Given the description of an element on the screen output the (x, y) to click on. 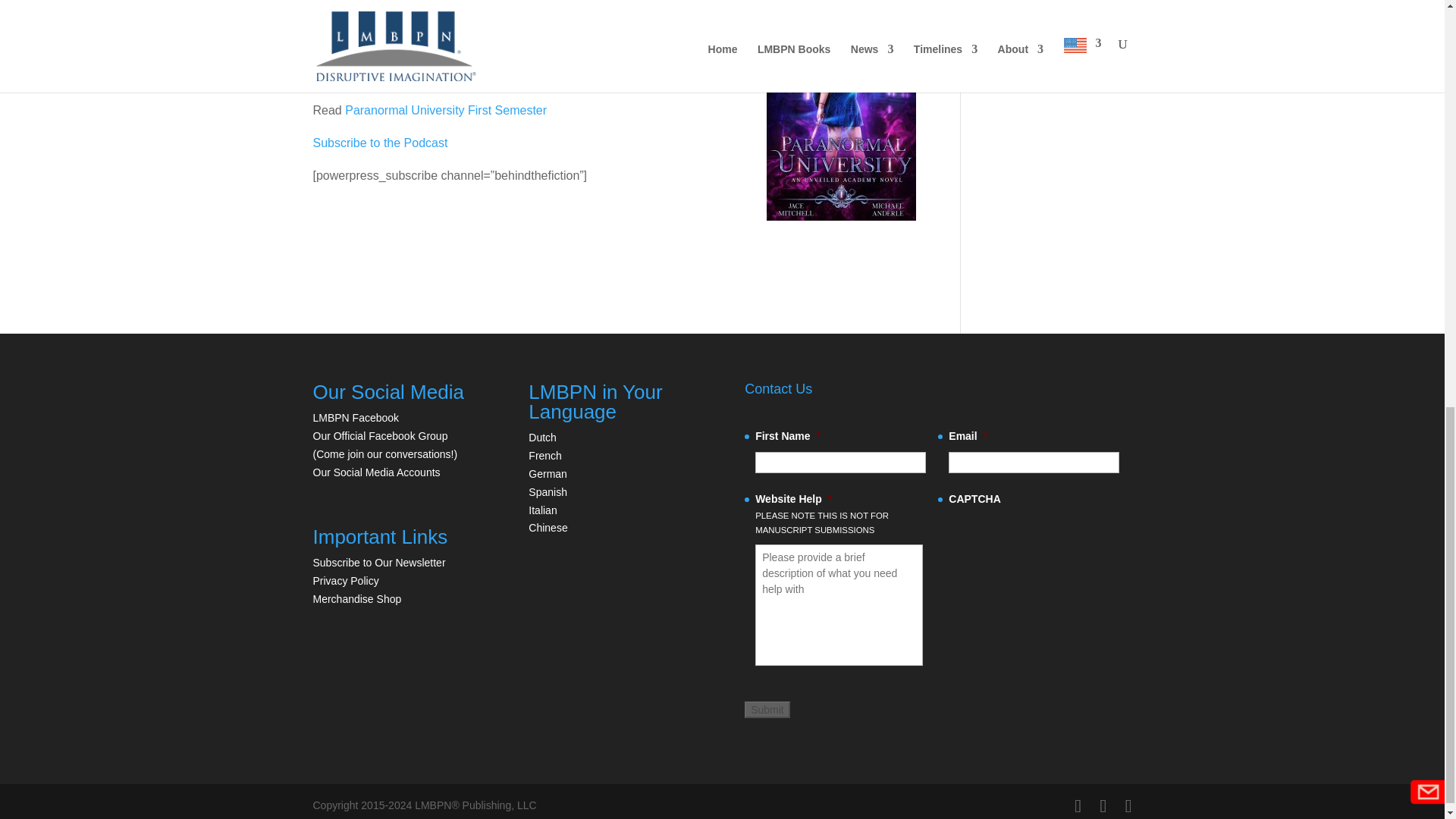
Subscribe to the Podcast (379, 142)
Our Social Media Accounts (376, 472)
Our Official Facebook Group (379, 435)
LMBPN Facebook  (357, 417)
Submit (767, 709)
Paranormal University First Semester (446, 110)
